Given the description of an element on the screen output the (x, y) to click on. 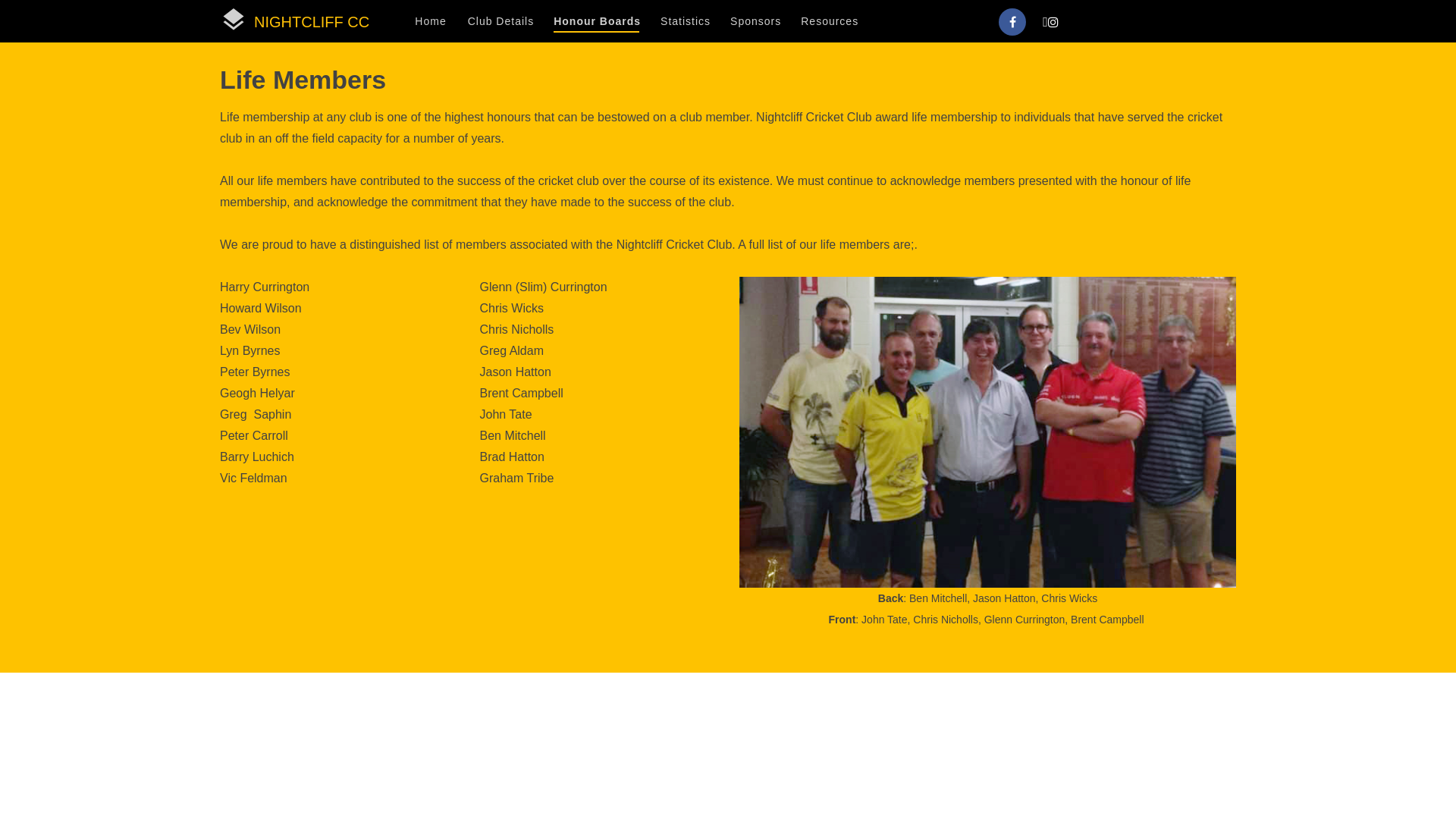
Follow on Fab fa-instagram Element type: hover (1049, 21)
Honour Boards Element type: text (595, 21)
Home Element type: text (430, 21)
layersNIGHTCLIFF CC Element type: text (294, 21)
Club Details Element type: text (499, 21)
Sponsors Element type: text (754, 21)
Follow on Facebook Element type: hover (1012, 21)
Statistics Element type: text (684, 21)
Resources Element type: text (828, 21)
